Given the description of an element on the screen output the (x, y) to click on. 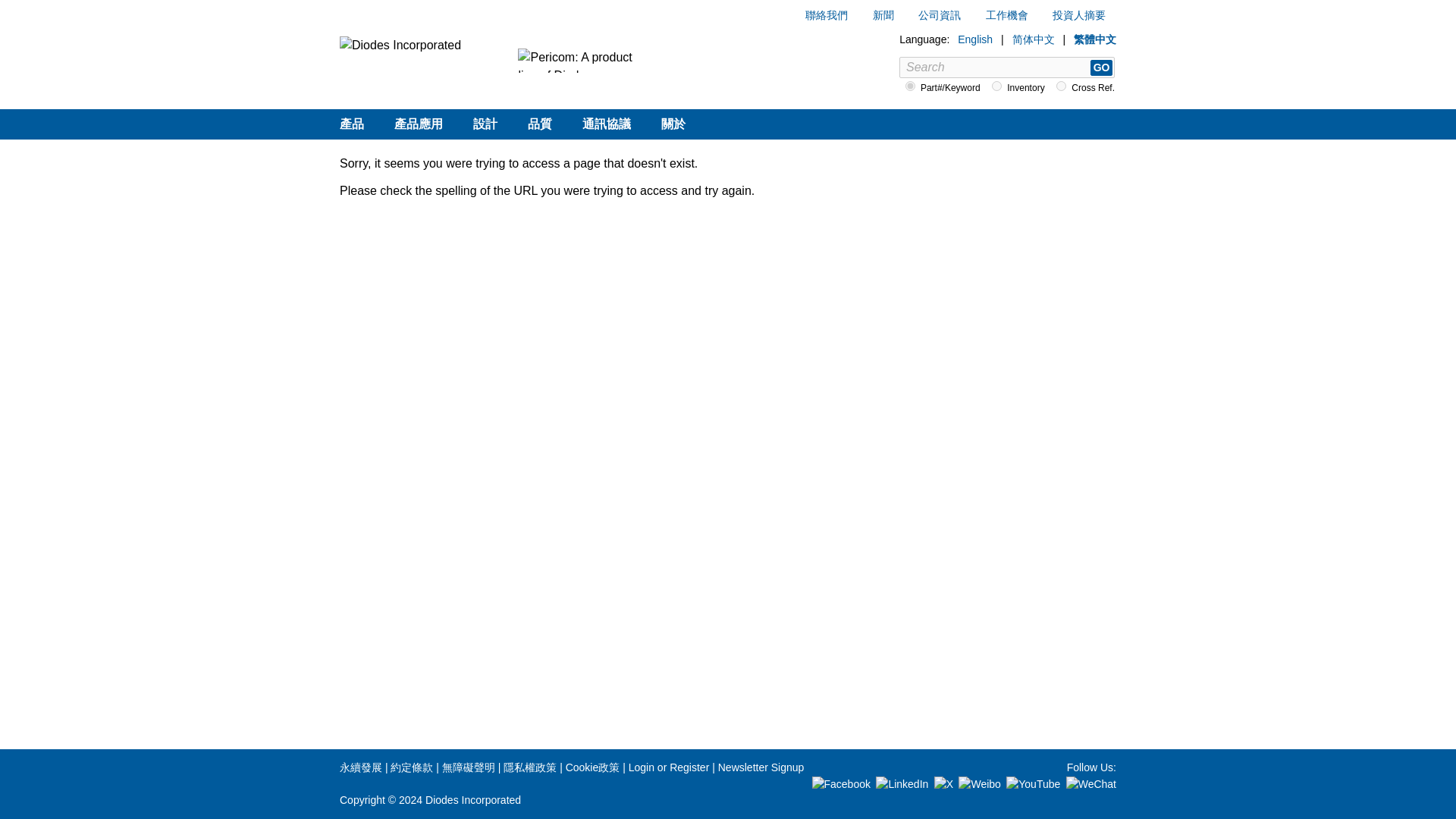
stock (996, 85)
Login or Register (669, 767)
keyword (910, 85)
Newsletter Signup (761, 767)
Diodes WeChat QR Code (1090, 783)
Search area (1007, 88)
Go (1101, 67)
xref (1061, 85)
